Given the description of an element on the screen output the (x, y) to click on. 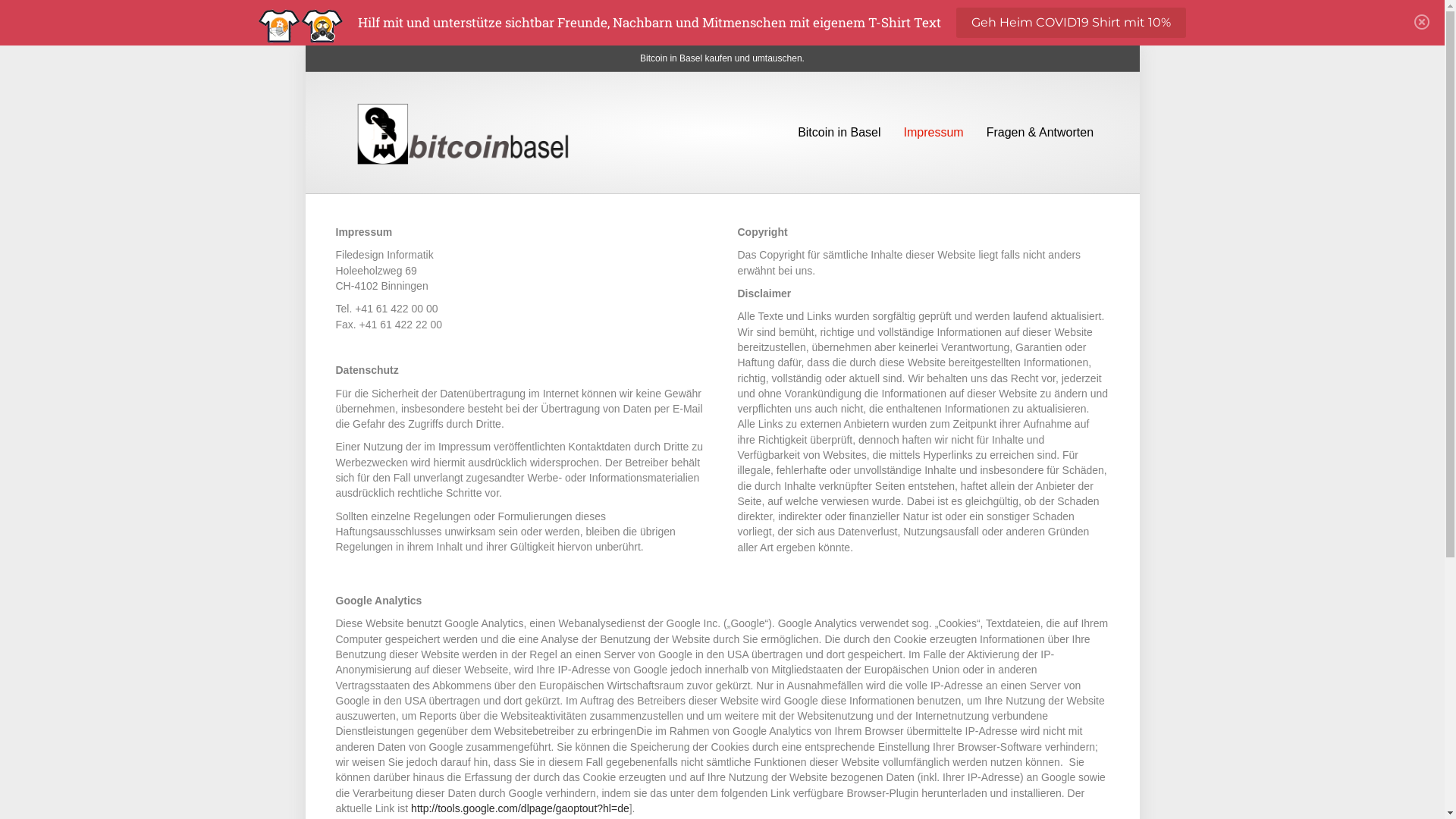
Impressum Element type: text (933, 132)
http://tools.google.com/dlpage/gaoptout?hl=de Element type: text (520, 808)
Bitcoin in Basel Element type: text (838, 132)
Fragen & Antworten Element type: text (1039, 132)
